Given the description of an element on the screen output the (x, y) to click on. 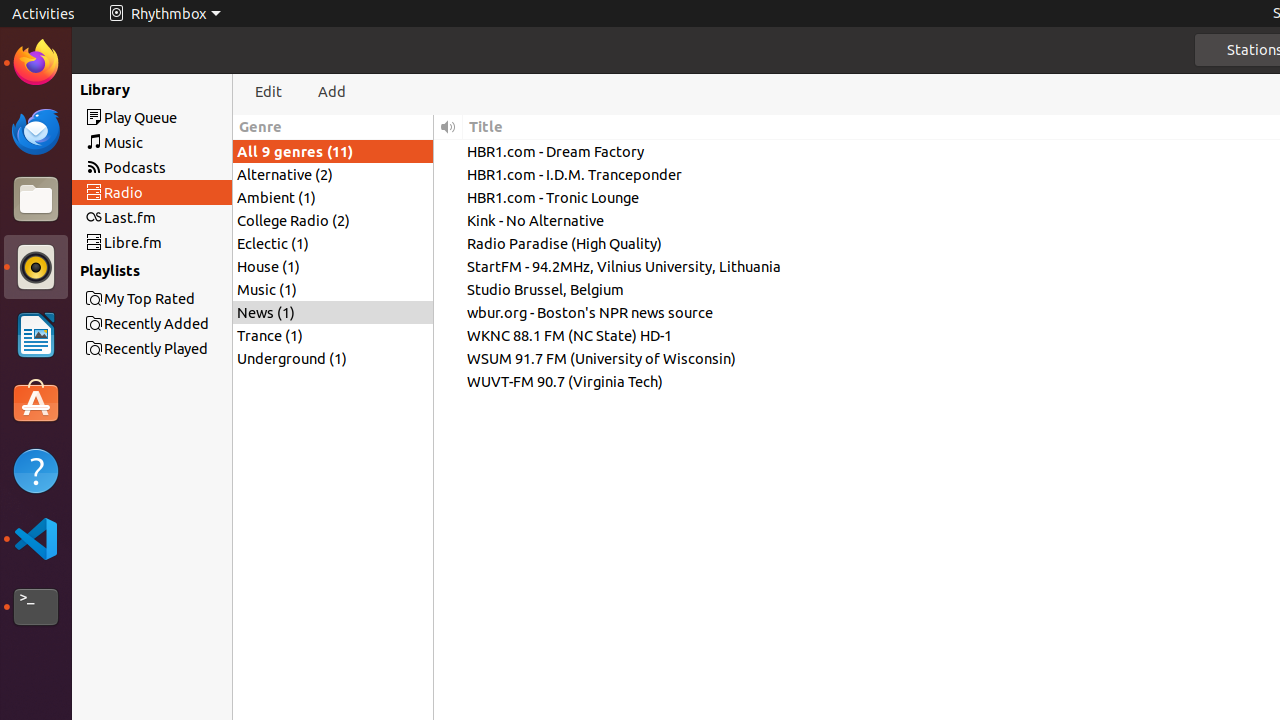
Podcasts Element type: table-cell (188, 167)
News (1) Element type: table-cell (333, 312)
